Given the description of an element on the screen output the (x, y) to click on. 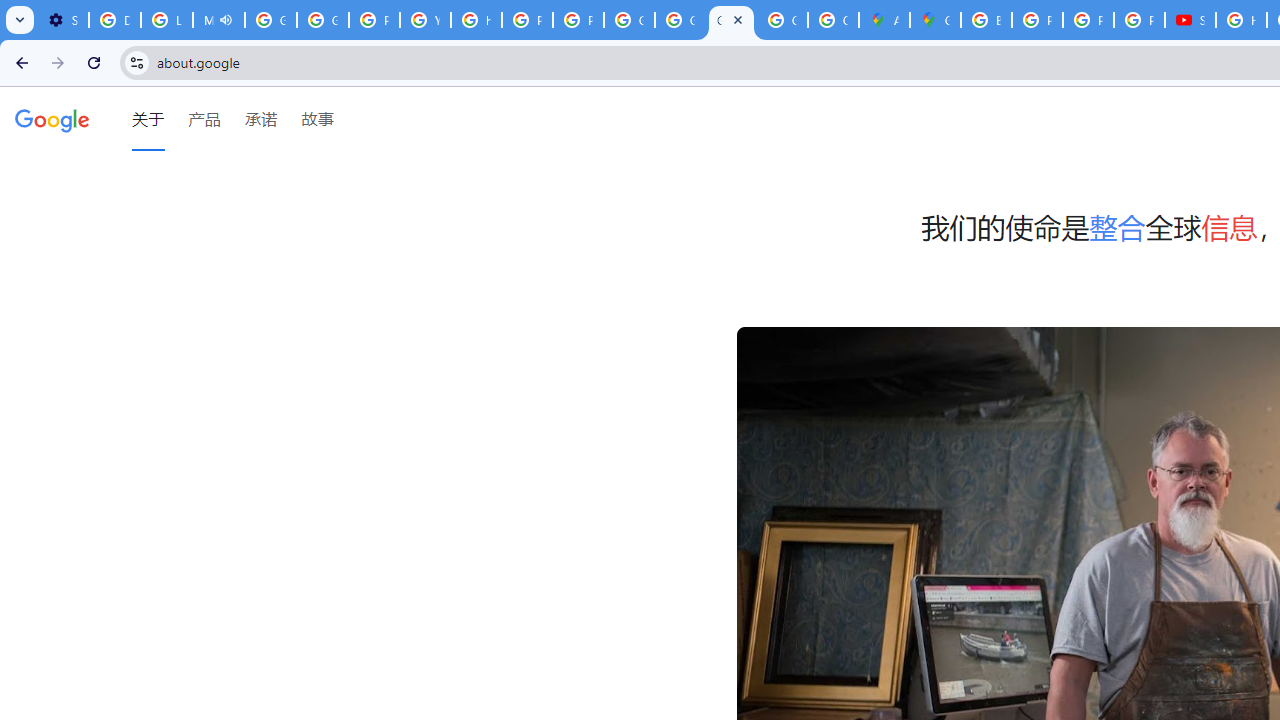
YouTube (424, 20)
Create your Google Account (832, 20)
Google Account Help (270, 20)
Privacy Help Center - Policies Help (374, 20)
